Given the description of an element on the screen output the (x, y) to click on. 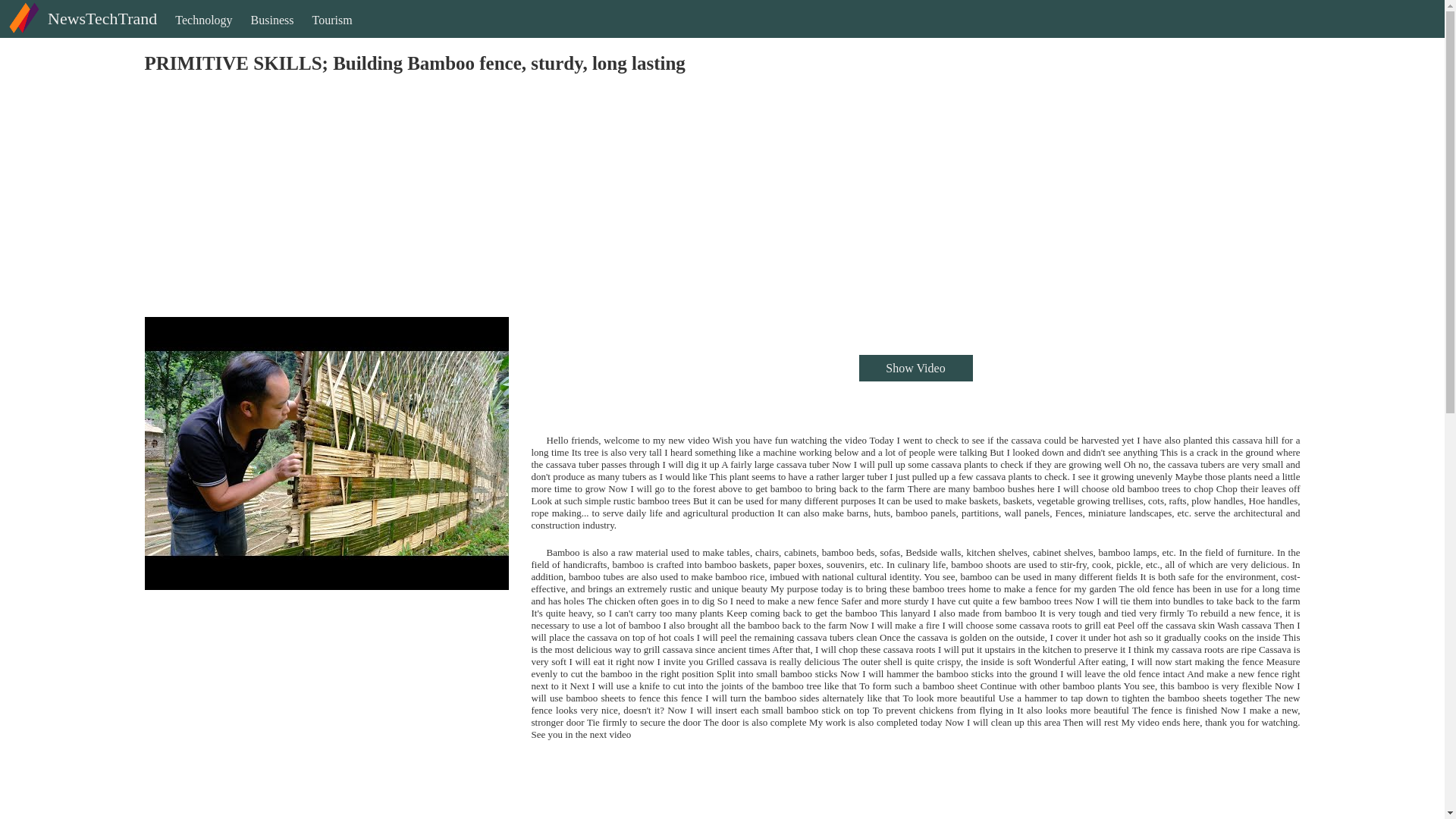
Business (272, 32)
Tourism (332, 32)
Technology (202, 32)
NewsTechTrand (80, 31)
Show Video (915, 367)
Advertisement (599, 795)
